Given the description of an element on the screen output the (x, y) to click on. 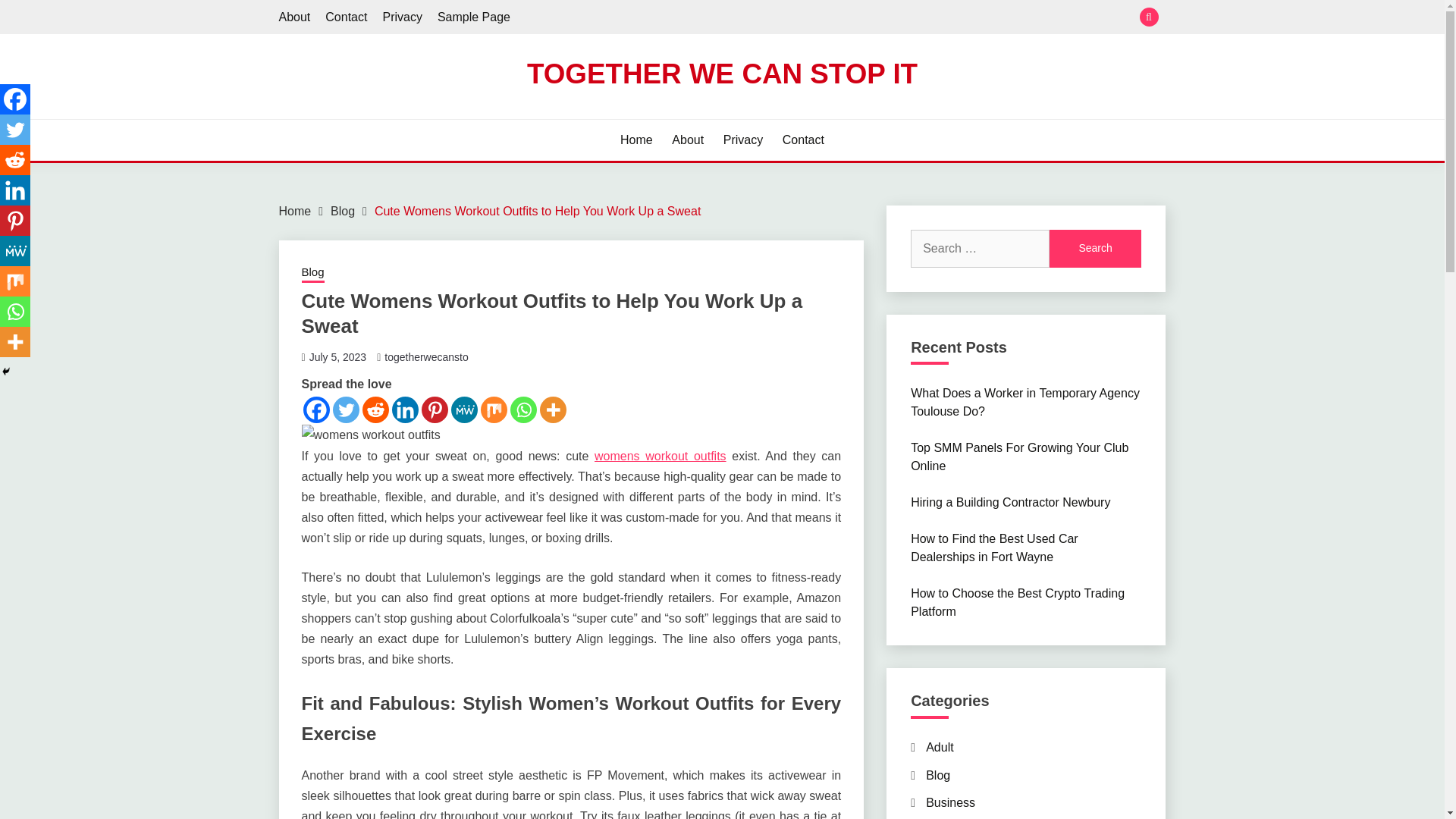
Home (295, 210)
Blog (312, 273)
Reddit (375, 409)
Linkedin (404, 409)
womens workout outfits (660, 455)
Twitter (15, 129)
Pinterest (435, 409)
TOGETHER WE CAN STOP IT (722, 73)
Privacy (742, 140)
About (295, 16)
